Given the description of an element on the screen output the (x, y) to click on. 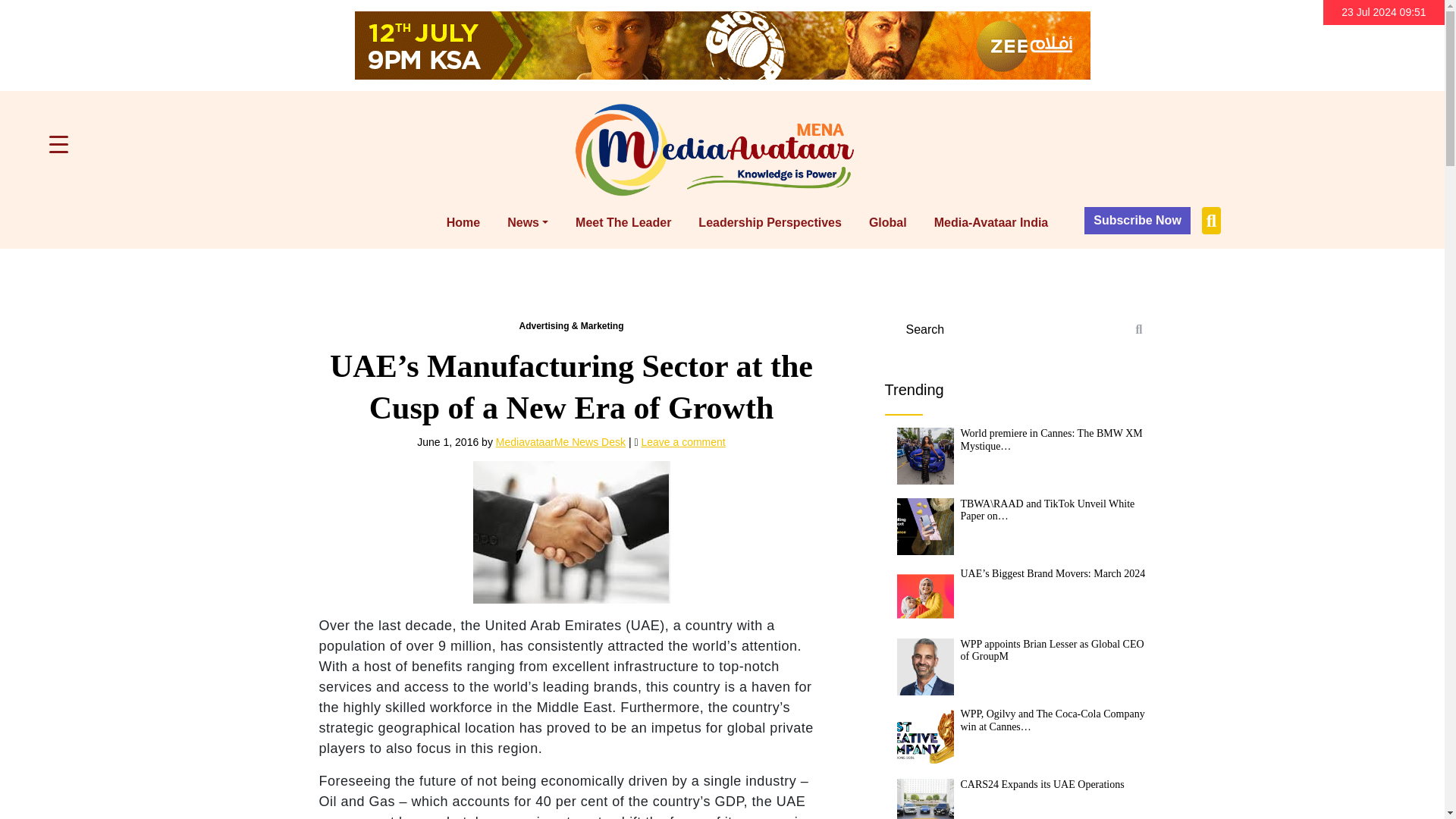
CARS24 Expands its UAE Operations (924, 798)
Subscribe Now (1137, 220)
News (527, 223)
WPP appoints Brian Lesser as Global CEO of GroupM (924, 666)
Leadership Perspectives (770, 223)
Global (887, 223)
Home (463, 223)
Meet The Leader (623, 223)
Media-Avataar India (991, 223)
UAE's Biggest Brand Movers: March 2024 (924, 596)
